Given the description of an element on the screen output the (x, y) to click on. 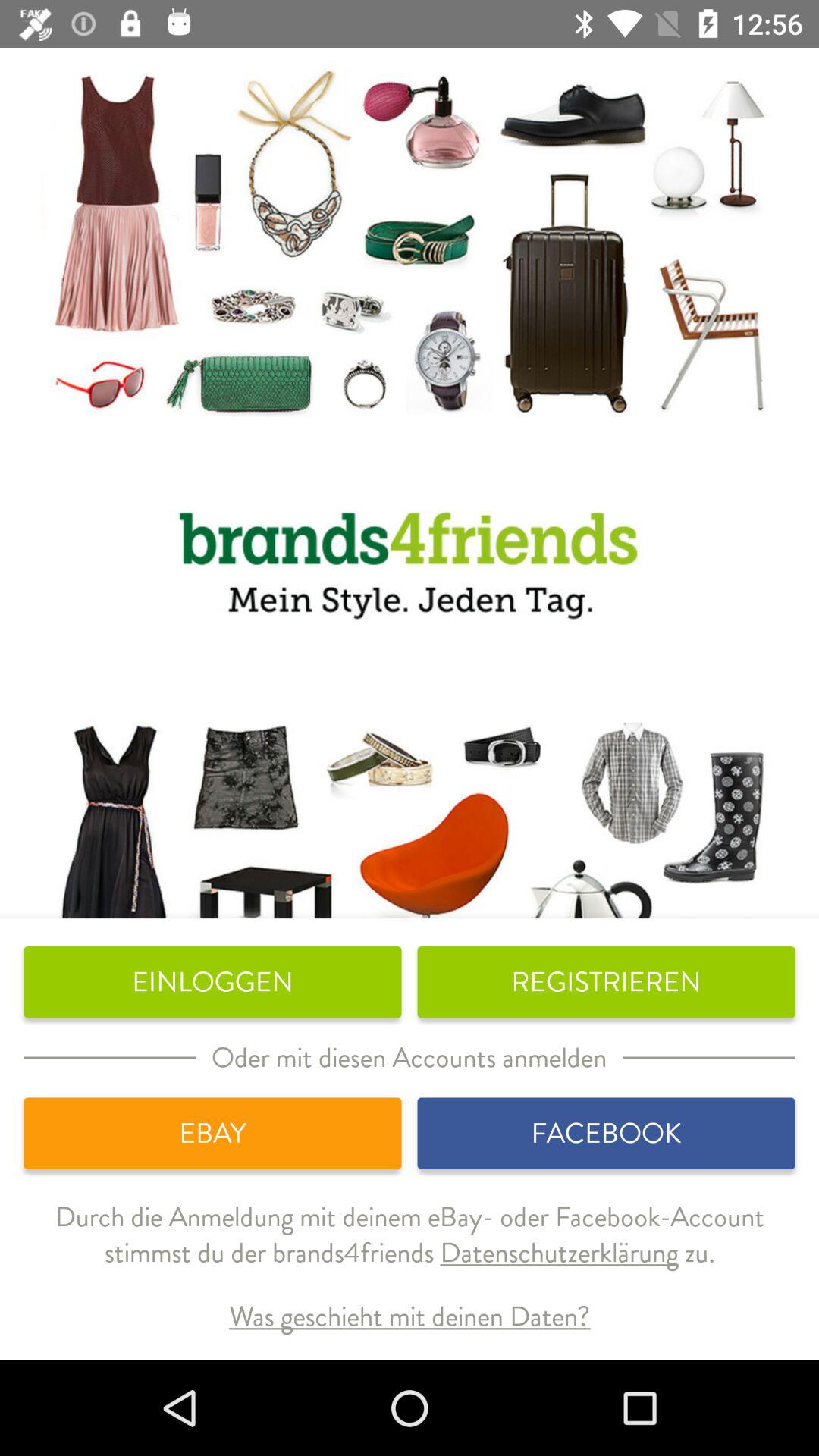
jump to the was geschieht mit (409, 1316)
